Given the description of an element on the screen output the (x, y) to click on. 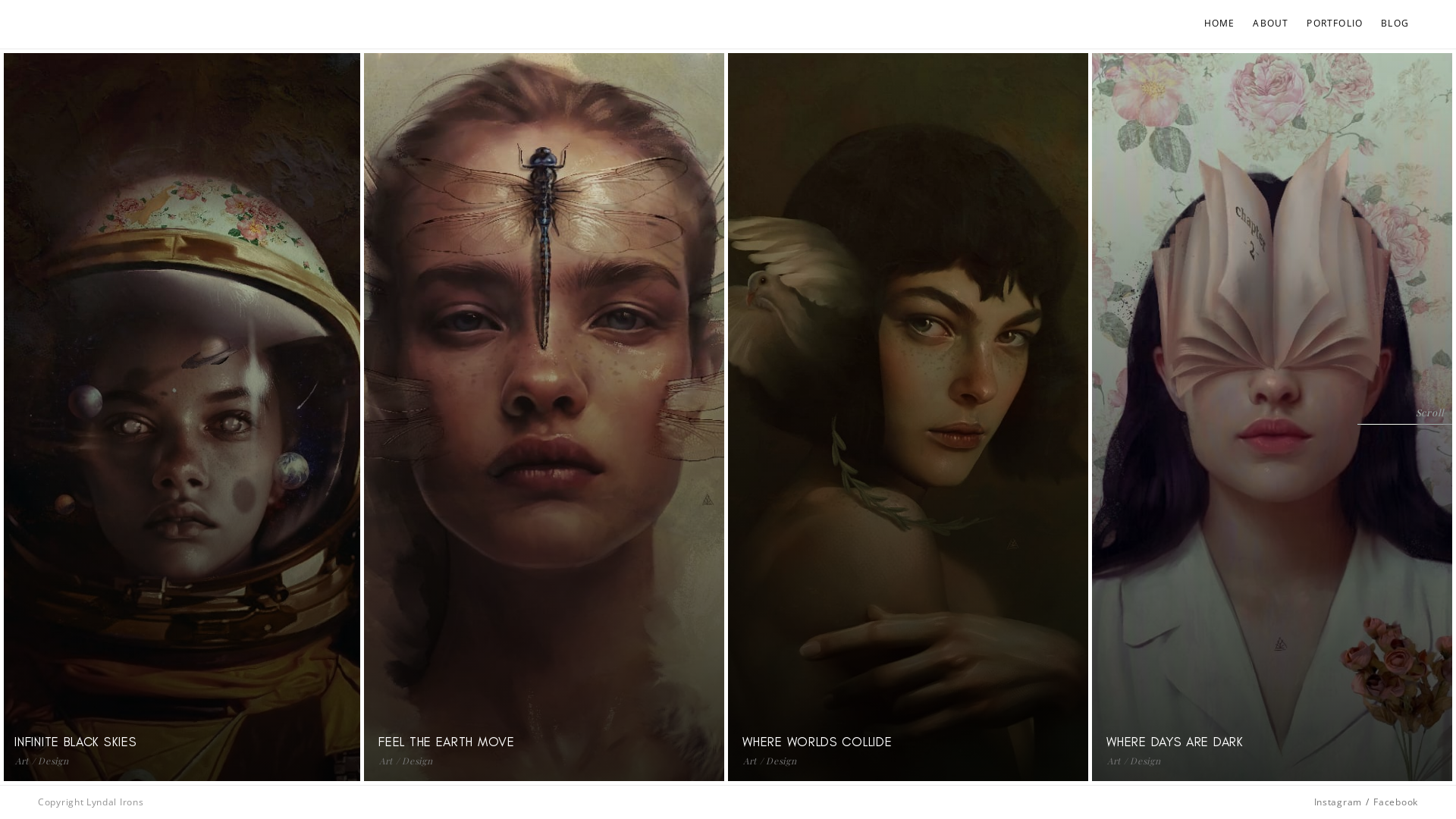
Facebook Element type: text (1395, 801)
Instagram Element type: text (1337, 801)
BLOG Element type: text (1394, 24)
FEEL THE EARTH MOVE Element type: text (455, 741)
INFINITE BLACK SKIES Element type: text (84, 741)
WHERE DAYS ARE DARK Element type: text (1183, 741)
HOME Element type: text (1219, 24)
ABOUT Element type: text (1270, 24)
WHERE WORLDS COLLIDE Element type: text (826, 741)
PORTFOLIO Element type: text (1334, 24)
